Given the description of an element on the screen output the (x, y) to click on. 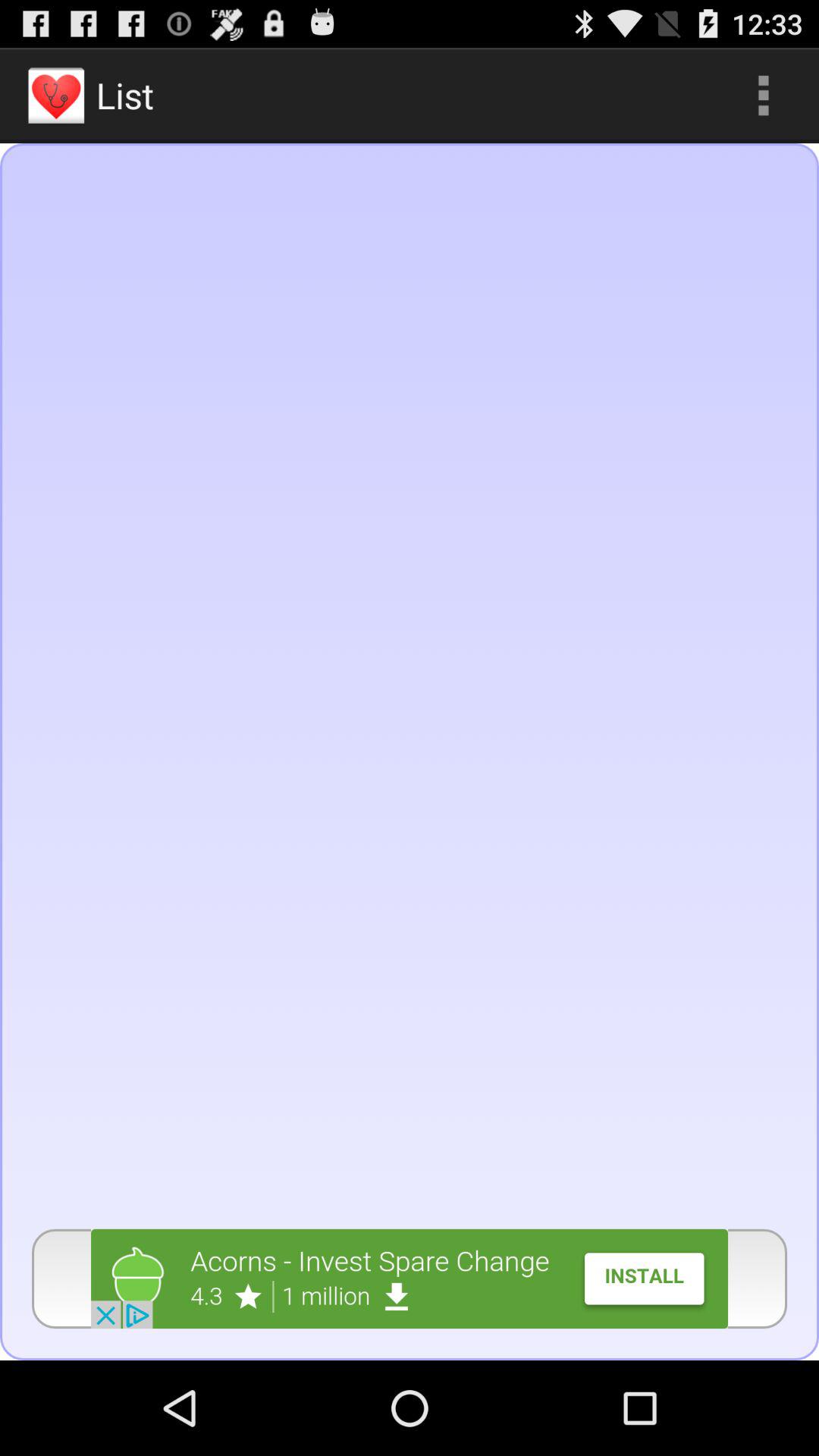
open advert (409, 1278)
